Given the description of an element on the screen output the (x, y) to click on. 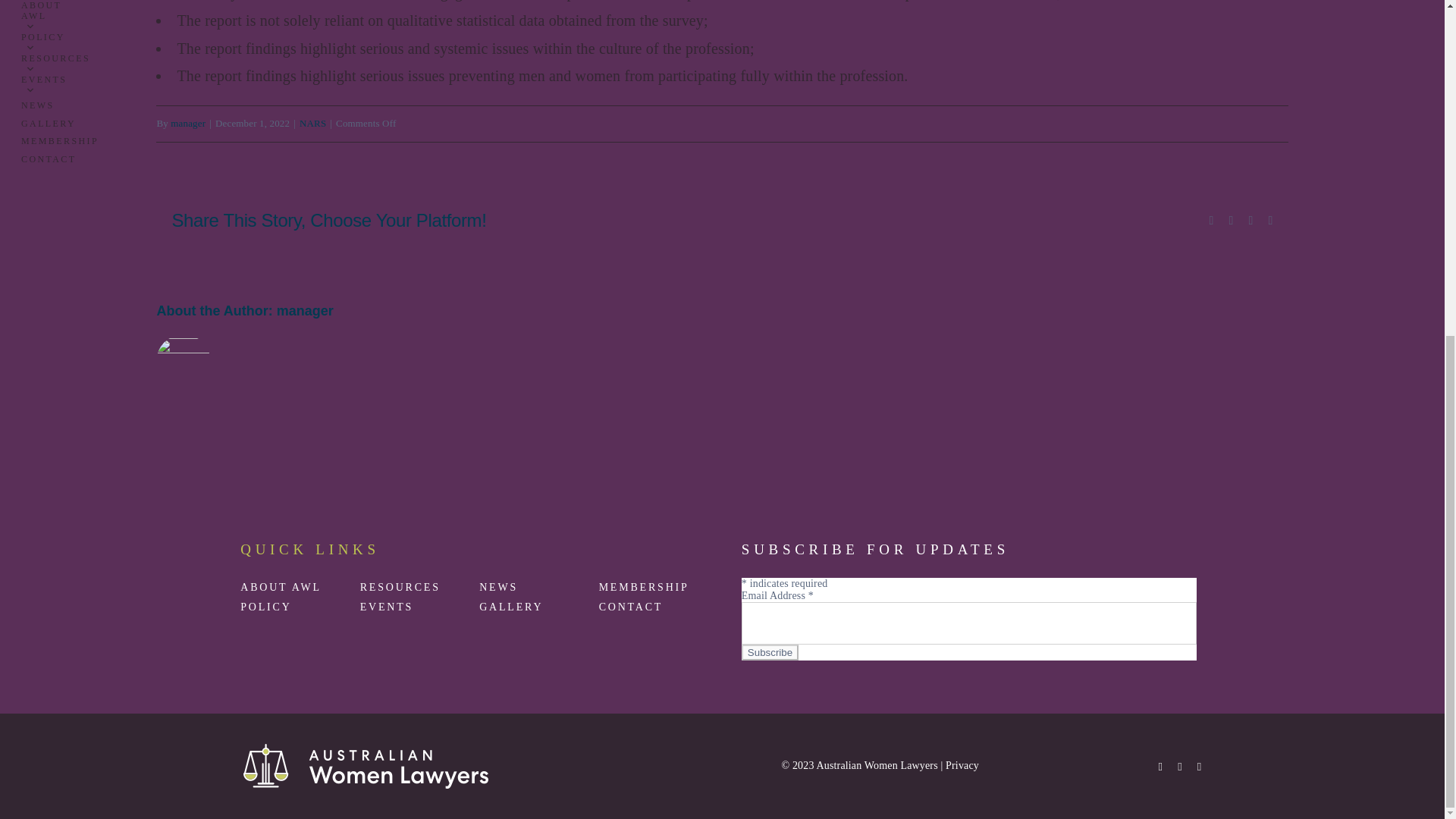
Posts by manager (187, 122)
Subscribe (769, 652)
